Given the description of an element on the screen output the (x, y) to click on. 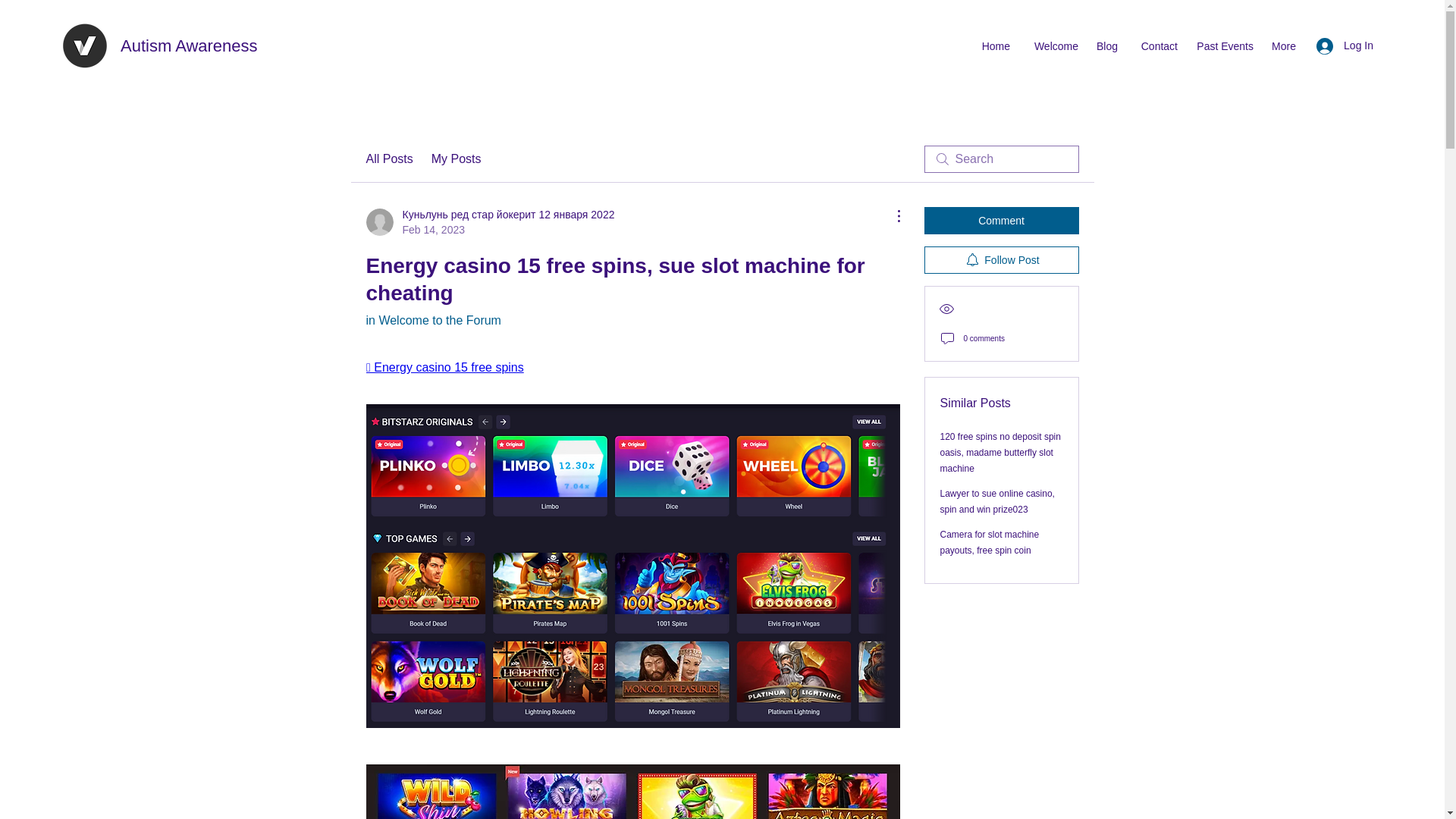
Blog (1105, 46)
Follow Post (1000, 259)
Lawyer to sue online casino, spin and win prize023 (997, 501)
My Posts (455, 158)
Welcome (1051, 46)
Contact (1155, 46)
All Posts (388, 158)
Past Events (1222, 46)
Autism Awareness (188, 45)
Comment (1000, 220)
Camera for slot machine payouts, free spin coin (989, 542)
Log In (1345, 45)
in Welcome to the Forum (432, 319)
Home (993, 46)
